Given the description of an element on the screen output the (x, y) to click on. 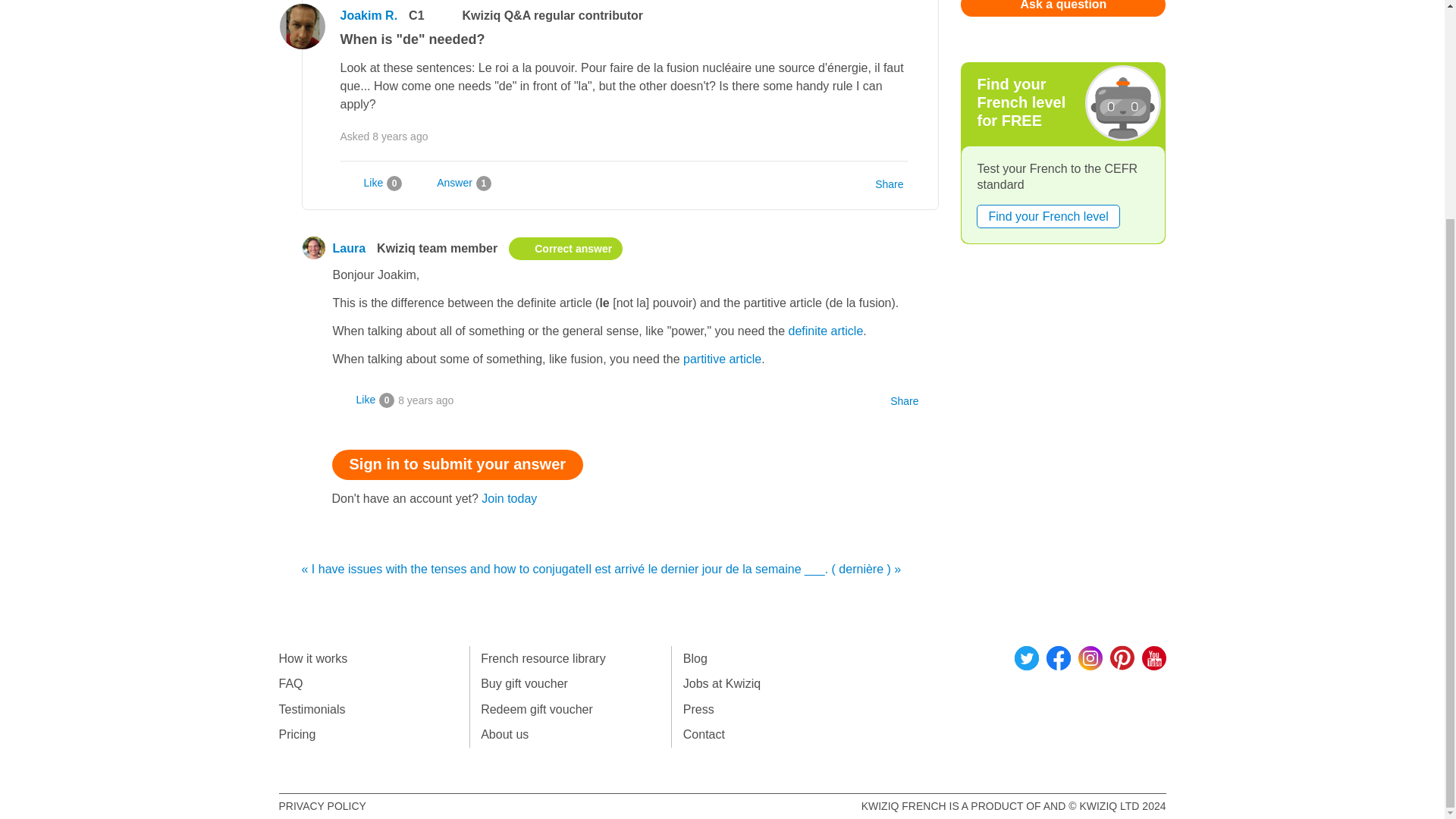
17th March 2016 (424, 400)
17th March 2016 (400, 136)
